Given the description of an element on the screen output the (x, y) to click on. 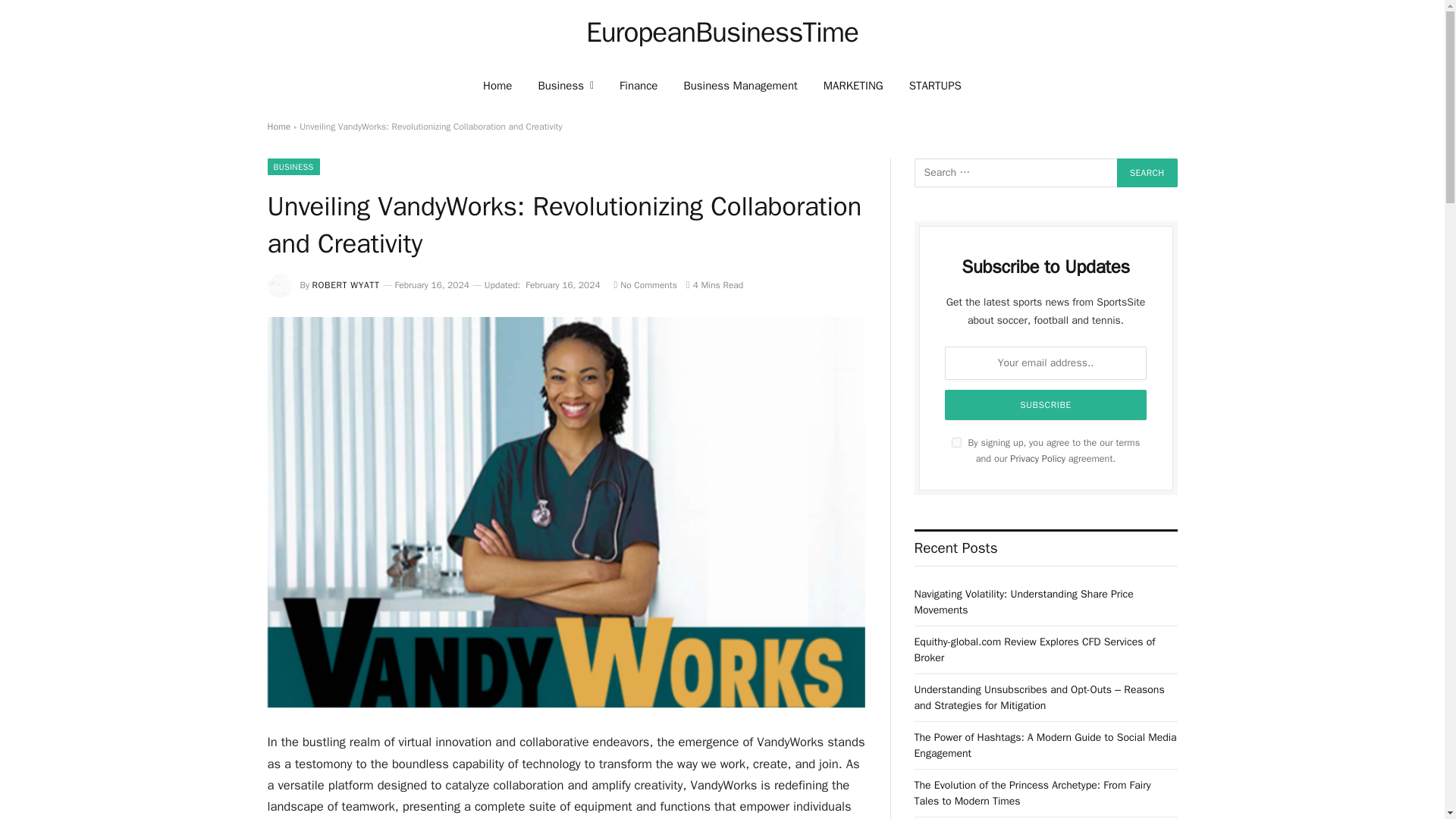
Search (1146, 172)
EuropeanBusinessTime (722, 32)
Finance (638, 85)
Search (1146, 172)
Home (497, 85)
STARTUPS (935, 85)
EuropeanBusinessTime (722, 32)
Subscribe (1045, 404)
Business (565, 85)
